Given the description of an element on the screen output the (x, y) to click on. 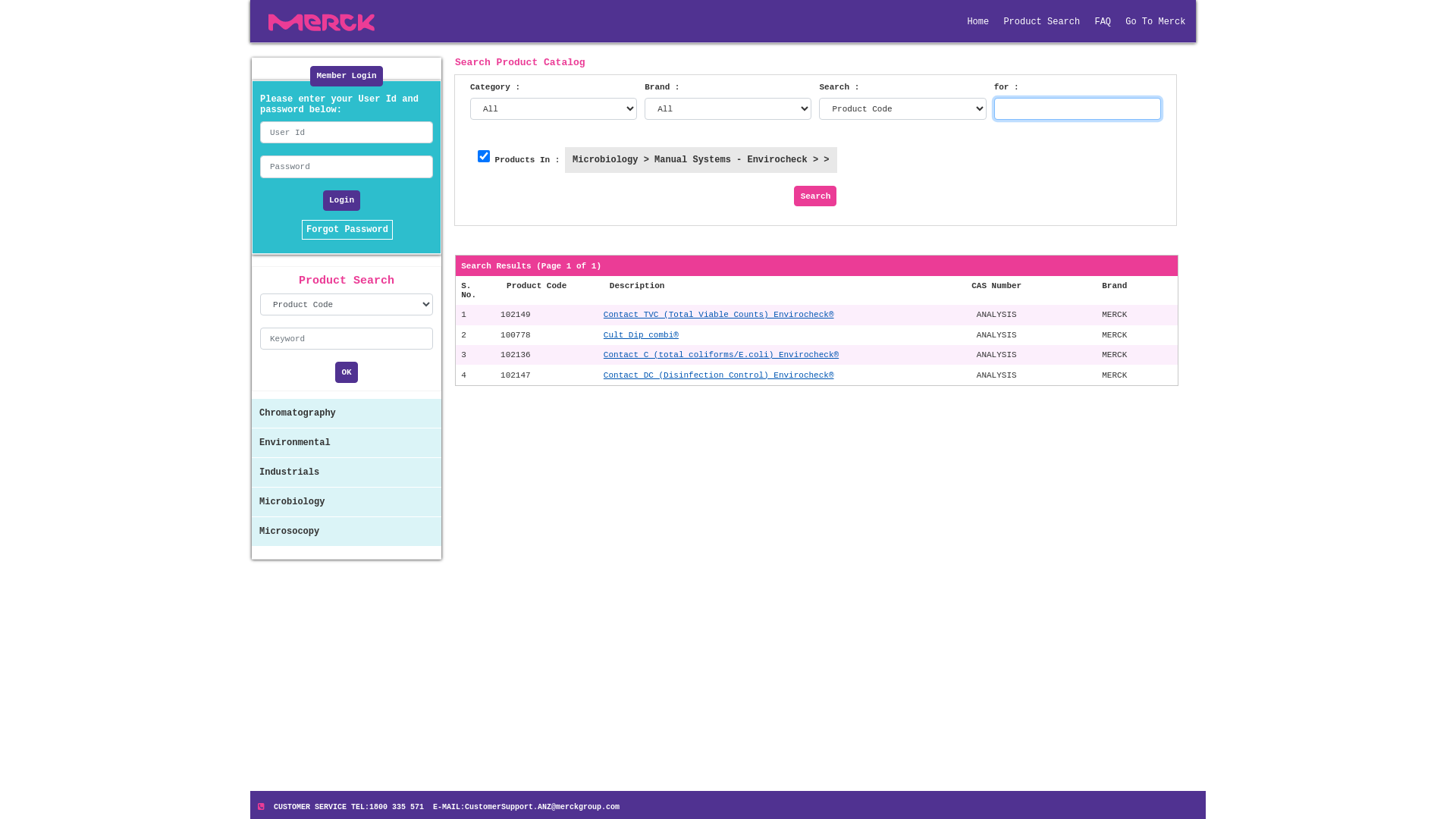
Microbiology Element type: text (346, 501)
FAQ Element type: text (1102, 21)
CustomerSupport.ANZ@merckgroup.com Element type: text (541, 809)
Go To Merck Element type: text (1155, 21)
Member Login Element type: text (346, 75)
Description Element type: text (637, 285)
Forgot Password Element type: text (346, 225)
Home Element type: text (977, 21)
CAS Number Element type: text (996, 285)
Product Search Element type: text (1041, 21)
Search Element type: text (814, 195)
Login Element type: text (341, 200)
Brand Element type: text (1113, 285)
Login Element type: text (346, 204)
Search Element type: text (814, 195)
Microsocopy Element type: text (346, 531)
Product Code Element type: text (536, 285)
Industrials Element type: text (346, 472)
OK Element type: text (346, 371)
Chromatography Element type: text (346, 412)
Environmental Element type: text (346, 442)
